Given the description of an element on the screen output the (x, y) to click on. 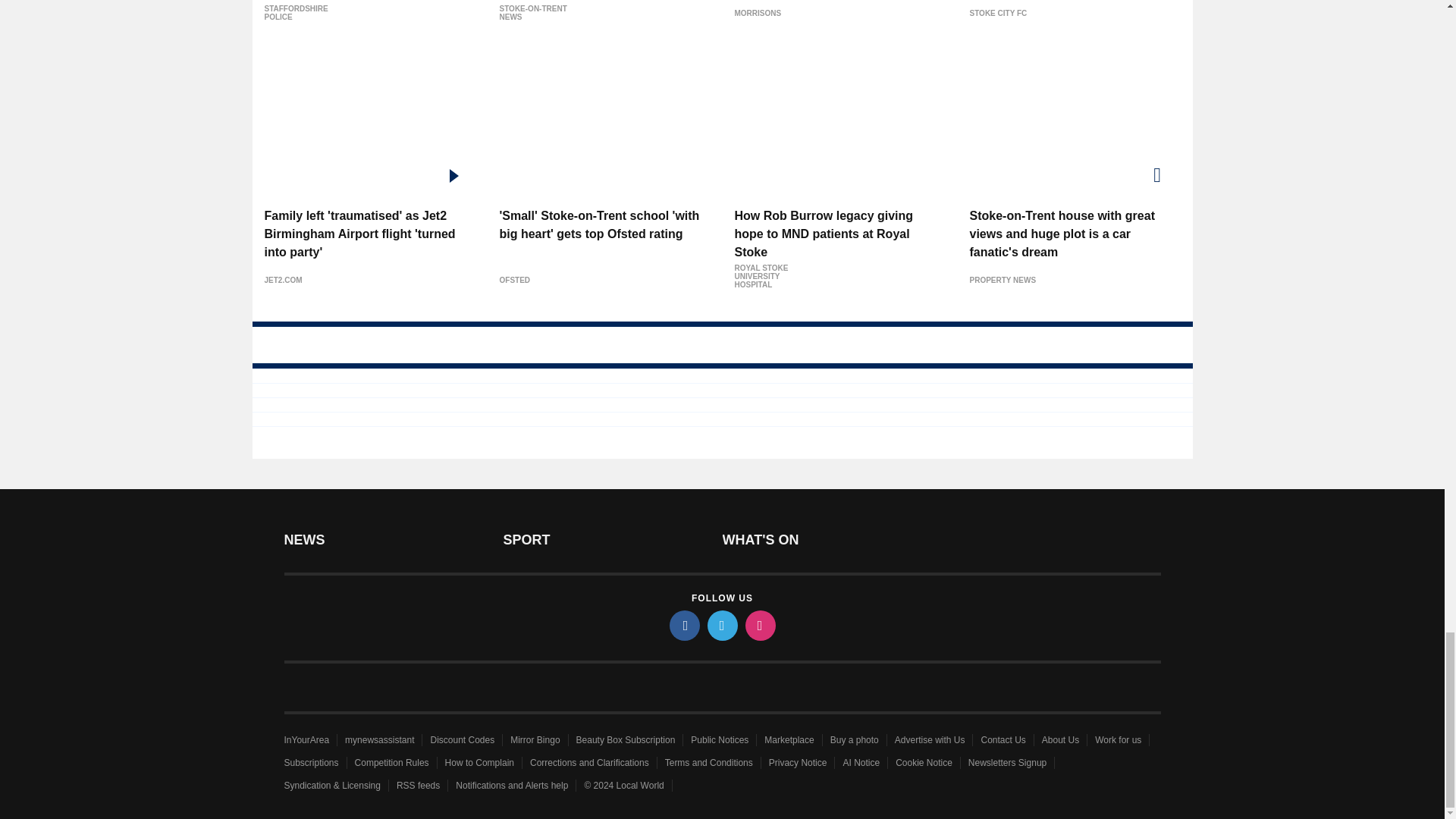
facebook (683, 625)
instagram (759, 625)
twitter (721, 625)
